Given the description of an element on the screen output the (x, y) to click on. 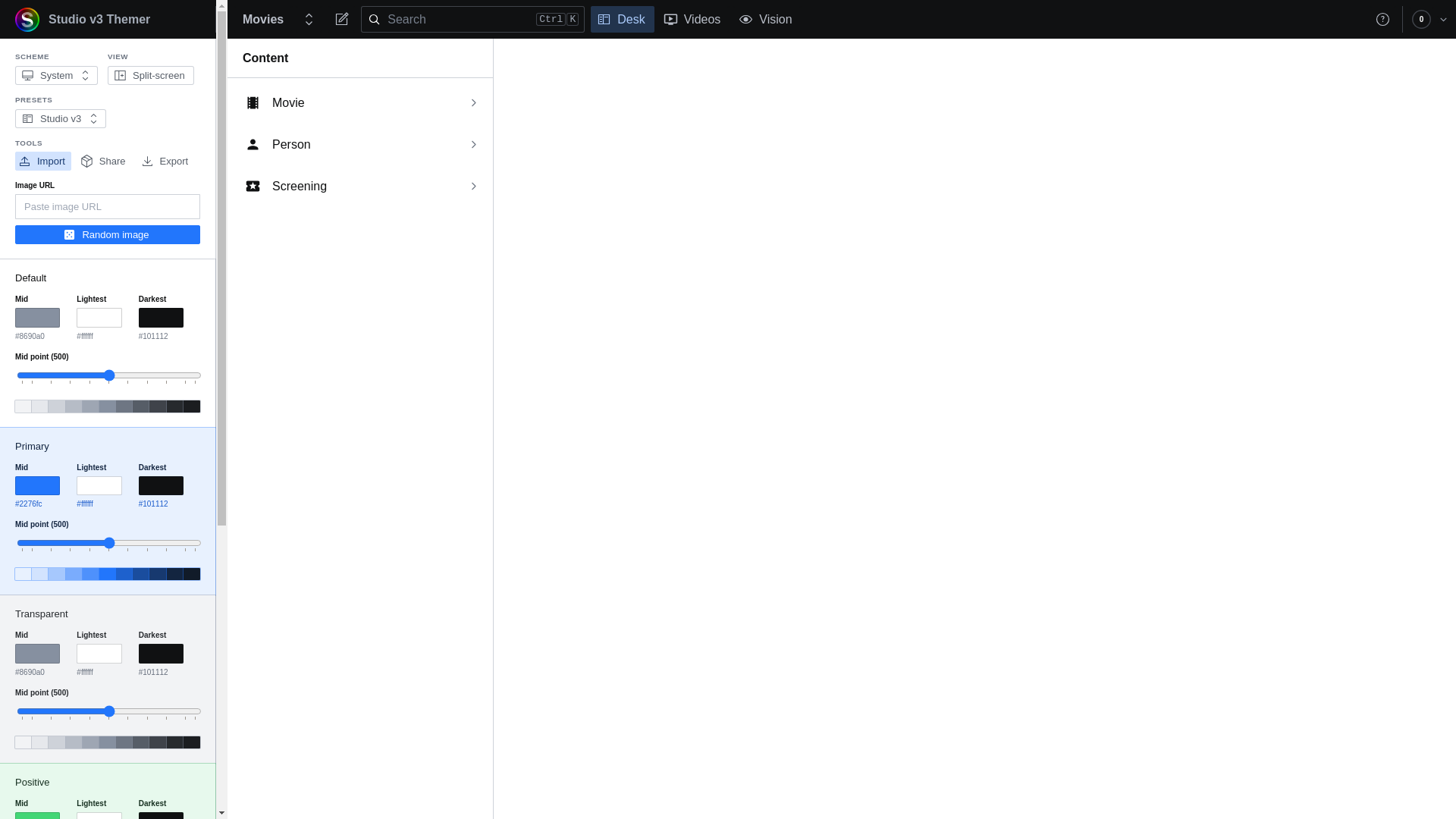
Desk Element type: text (621, 19)
Content Element type: text (358, 57)
System Element type: text (56, 74)
Screening Element type: text (359, 185)
Vision Element type: text (766, 19)
Studio v3 Element type: text (60, 118)
Export Element type: text (166, 160)
Import Element type: text (43, 160)
Person Element type: text (359, 144)
Random image Element type: text (107, 234)
Videos Element type: text (693, 19)
Share Element type: text (104, 160)
Split-screen Element type: text (150, 74)
Movies Element type: text (262, 19)
0 Element type: text (1421, 18)
Movie Element type: text (359, 102)
